Given the description of an element on the screen output the (x, y) to click on. 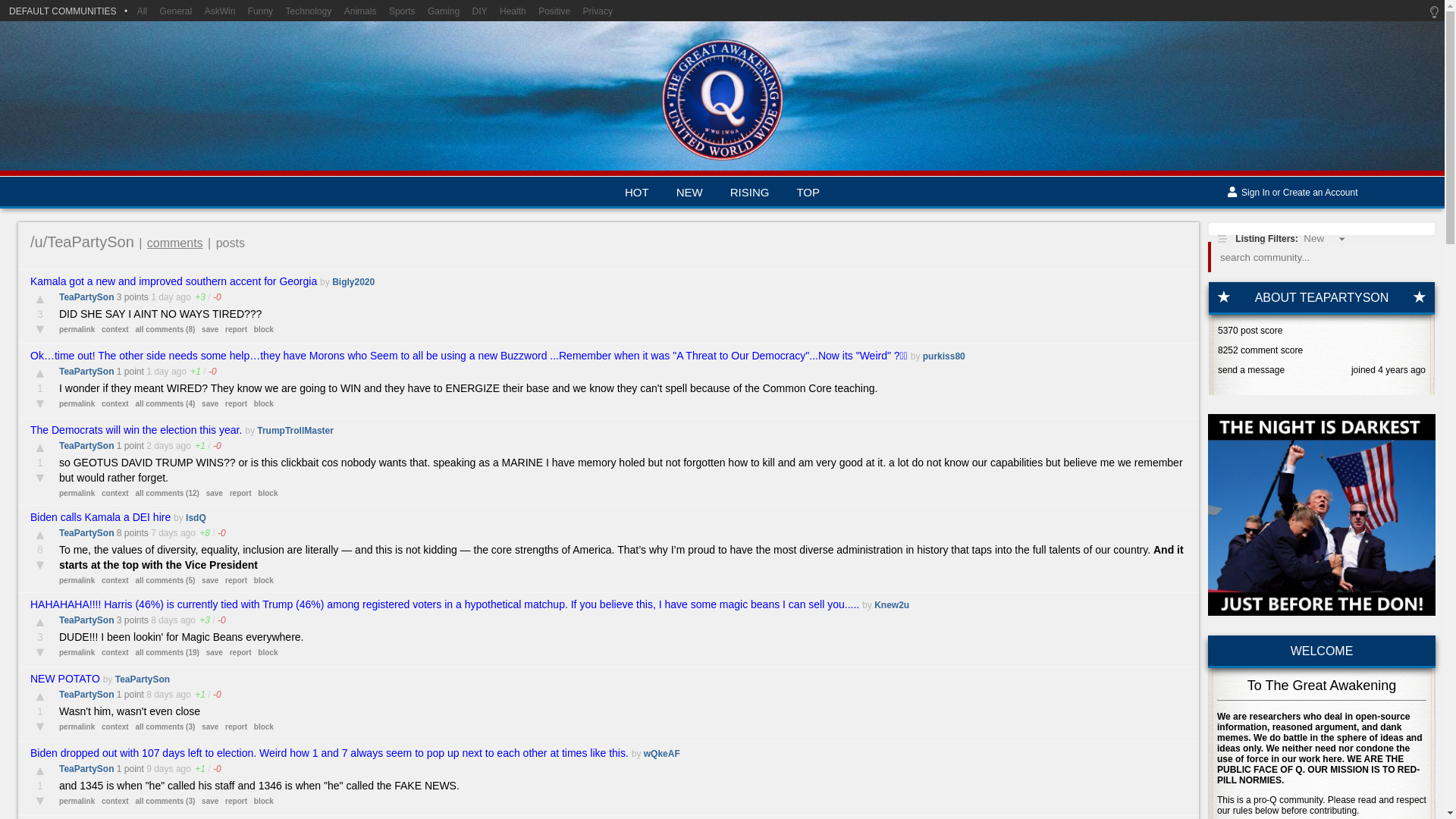
Wed Jul 31 00:59:01 GMT 2024 (162, 296)
Mon Jul 29 22:24:25 GMT 2024 (160, 445)
Tue Jul 23 21:11:11 GMT 2024 (164, 620)
Thu Jul 25 03:05:38 GMT 2024 (164, 532)
Tue Jul 23 17:50:14 GMT 2024 (160, 694)
Tue Jul 30 18:10:45 GMT 2024 (157, 371)
Mon Jul 22 13:31:15 GMT 2024 (160, 768)
